Given the description of an element on the screen output the (x, y) to click on. 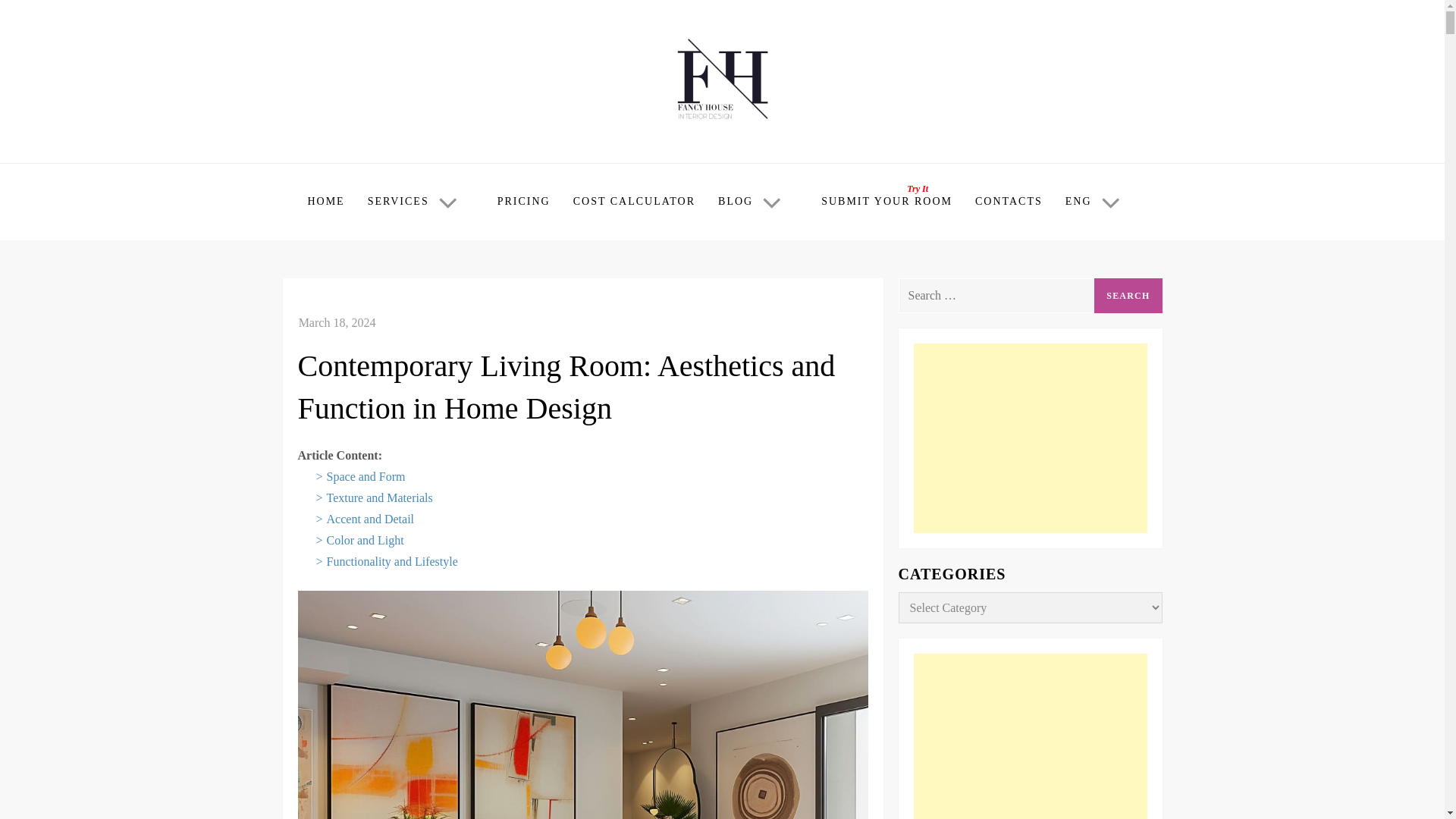
ENG (1101, 202)
CONTACTS (1008, 201)
Fancy House Design in Dubai (464, 146)
Texture and Materials (379, 497)
Search (1127, 295)
BLOG (757, 202)
Accent and Detail (370, 518)
HOME (325, 201)
Color and Light (365, 540)
